Given the description of an element on the screen output the (x, y) to click on. 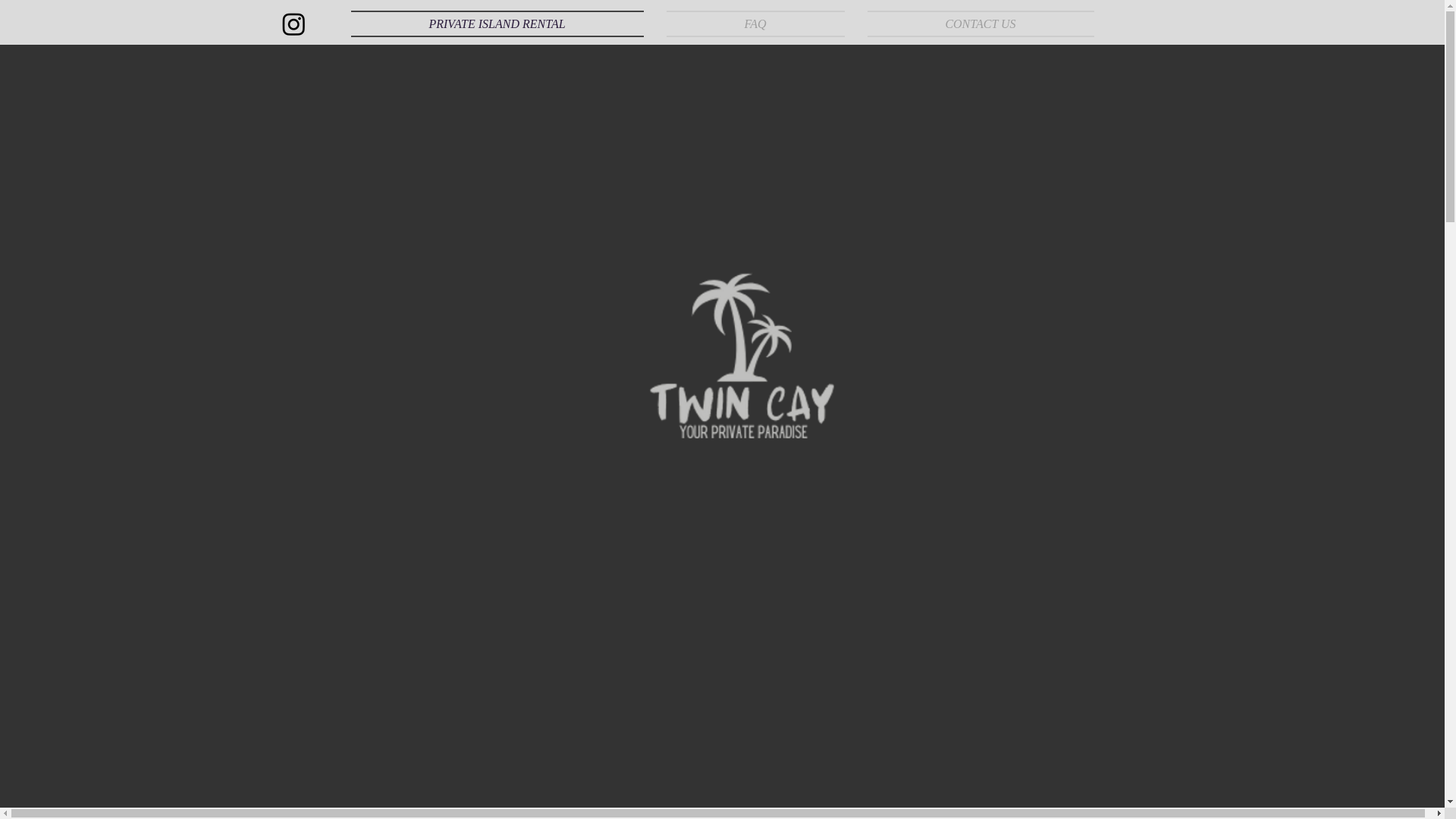
FAQ (755, 23)
PRIVATE ISLAND RENTAL (501, 23)
CONTACT US (974, 23)
